Given the description of an element on the screen output the (x, y) to click on. 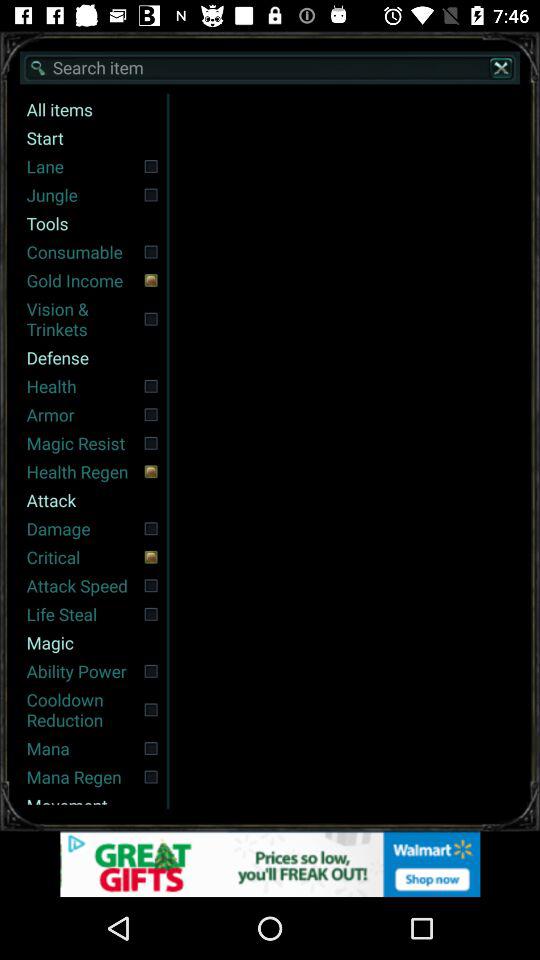
open the advertisement (270, 864)
